Given the description of an element on the screen output the (x, y) to click on. 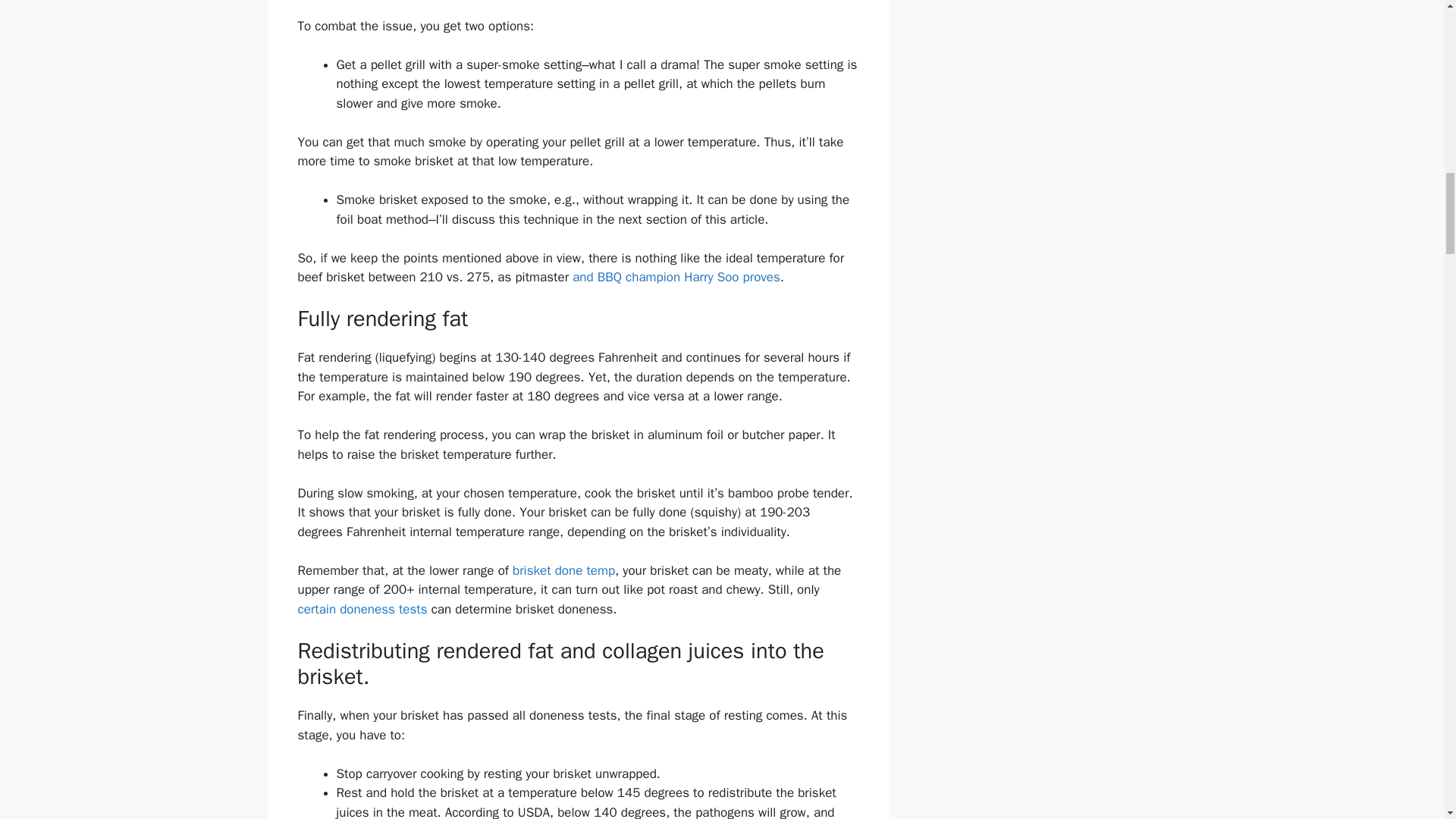
brisket done temp (563, 570)
certain doneness tests (361, 608)
and BBQ champion Harry Soo proves (674, 277)
